Given the description of an element on the screen output the (x, y) to click on. 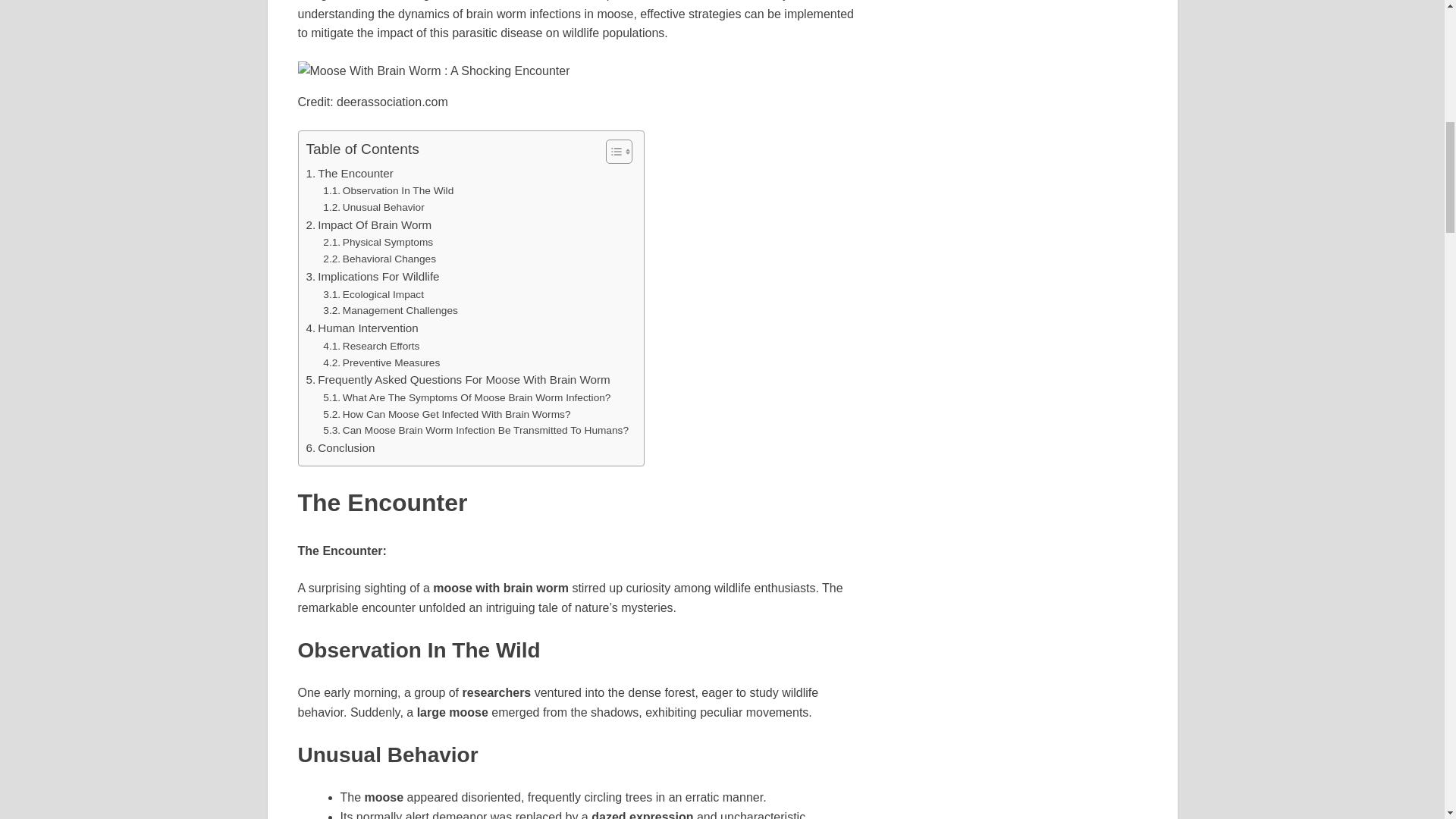
The Encounter (349, 173)
Management Challenges (390, 310)
Unusual Behavior (373, 207)
Research Efforts (371, 346)
Observation In The Wild (387, 190)
Observation In The Wild (387, 190)
How Can Moose Get Infected With Brain Worms? (446, 414)
Ecological Impact (373, 294)
Implications For Wildlife (372, 276)
Conclusion (340, 447)
